Given the description of an element on the screen output the (x, y) to click on. 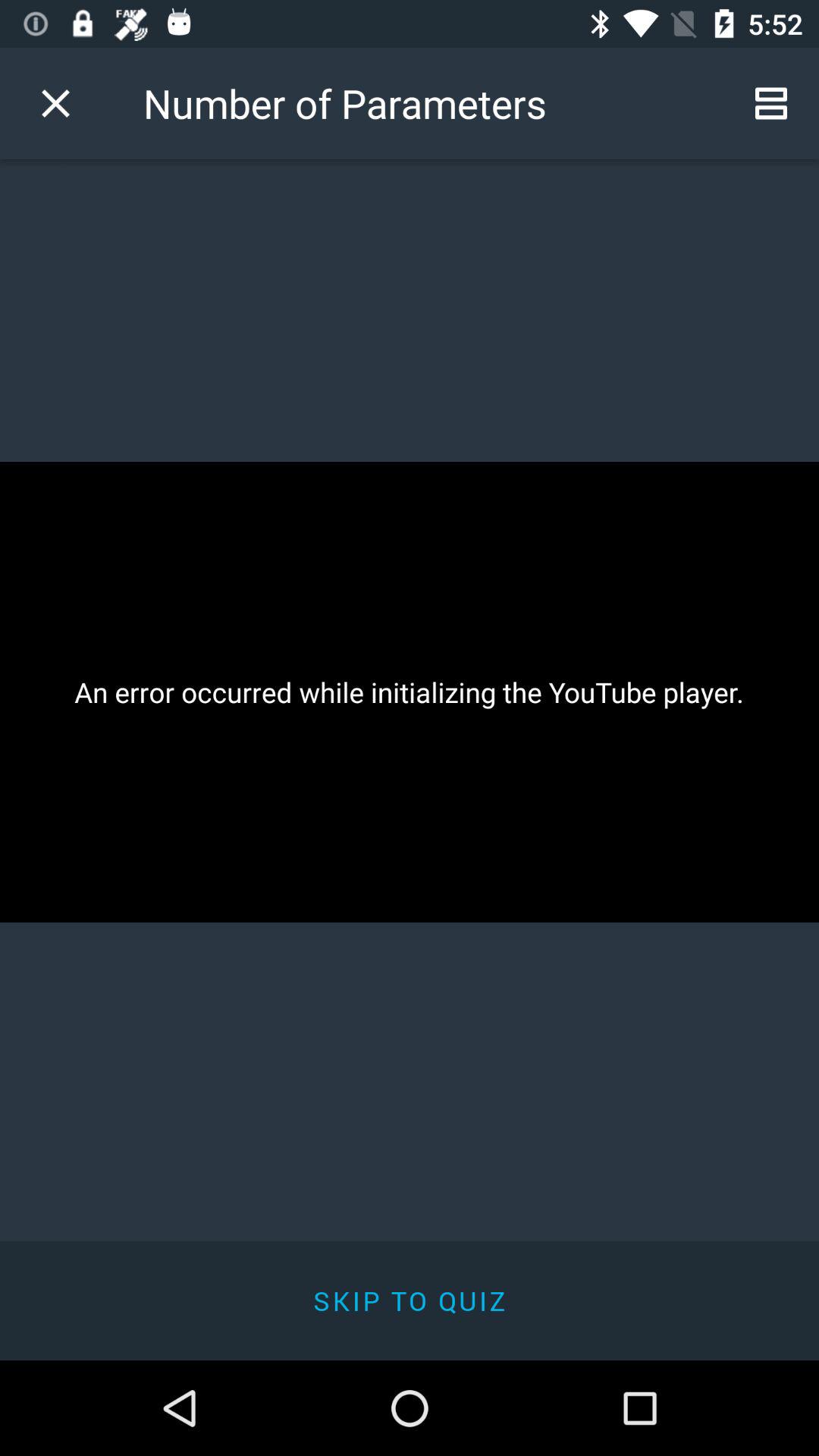
select app above an error occurred (55, 103)
